Given the description of an element on the screen output the (x, y) to click on. 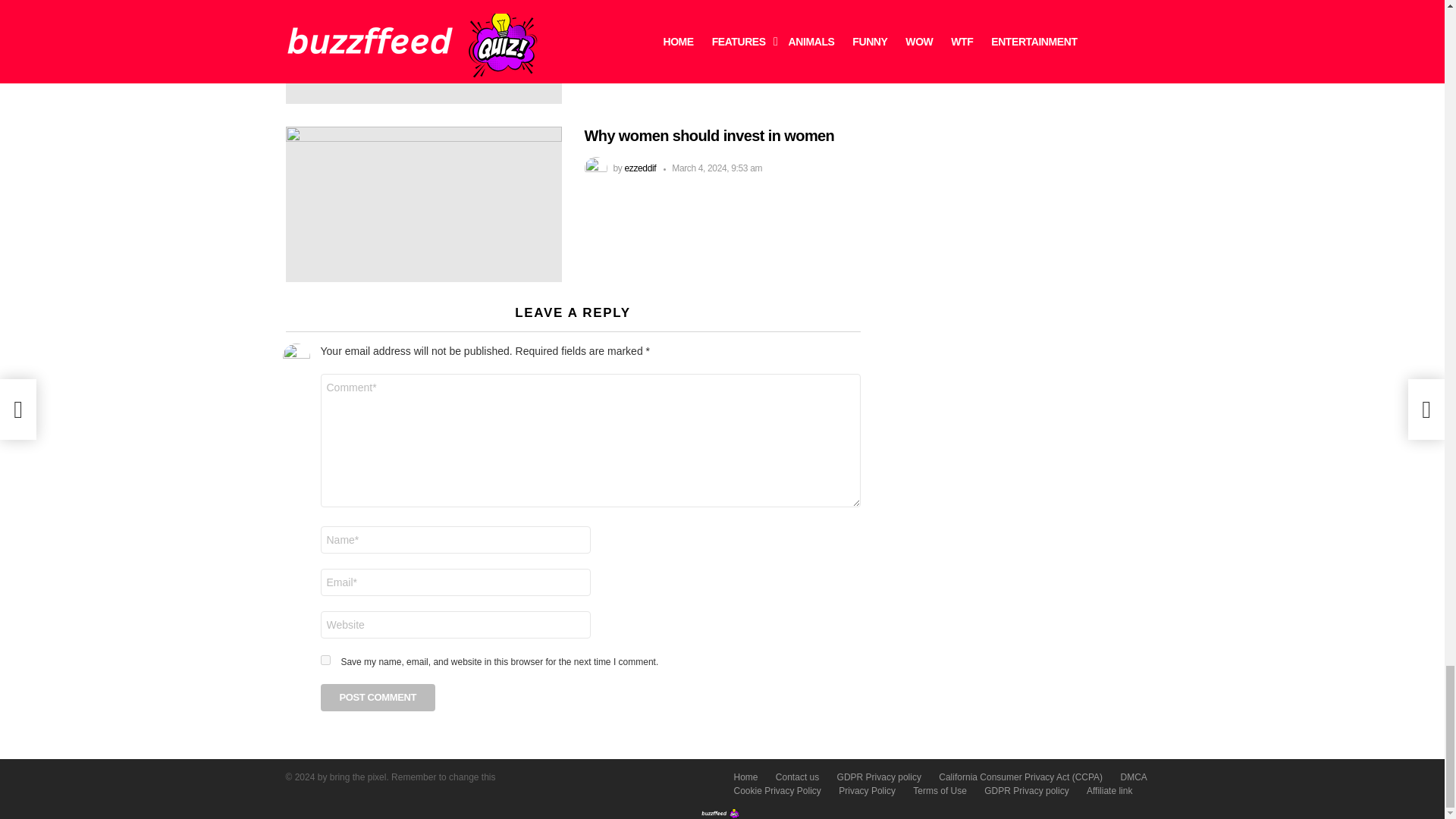
yes (325, 660)
Post Comment (377, 697)
